Given the description of an element on the screen output the (x, y) to click on. 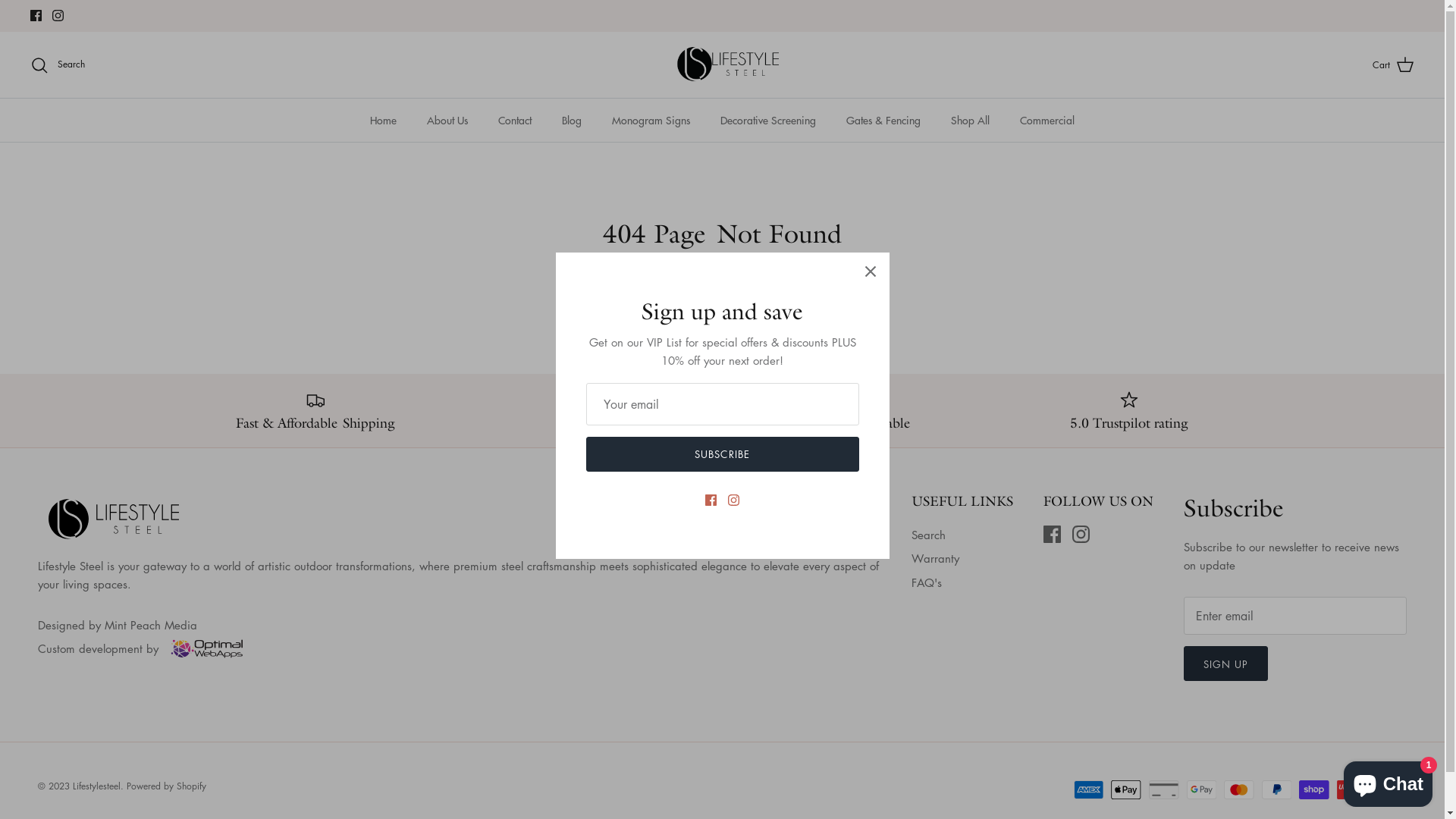
Commercial Element type: text (1047, 119)
Shop All Element type: text (970, 119)
Blog Element type: text (571, 119)
SIGN UP Element type: text (1225, 663)
Instagram Element type: text (57, 15)
Contact Element type: text (514, 119)
Facebook Element type: text (35, 15)
FAQ's Element type: text (926, 581)
Warranty Element type: text (935, 557)
Powered by Shopify Element type: text (166, 785)
Lifestylesteel Element type: hover (722, 64)
Lifestylesteel Element type: text (96, 785)
Instagram Element type: text (1080, 533)
About Us Element type: text (447, 119)
Home Element type: text (383, 119)
Facebook Element type: text (1051, 533)
SUBSCRIBE Element type: text (721, 453)
Cart Element type: text (1393, 65)
Monogram Signs Element type: text (650, 119)
home page Element type: text (758, 288)
Gates & Fencing Element type: text (883, 119)
try a search Element type: text (834, 288)
Decorative Screening Element type: text (767, 119)
Shopify online store chat Element type: hover (1388, 780)
Search Element type: text (928, 534)
Search Element type: text (57, 65)
